Given the description of an element on the screen output the (x, y) to click on. 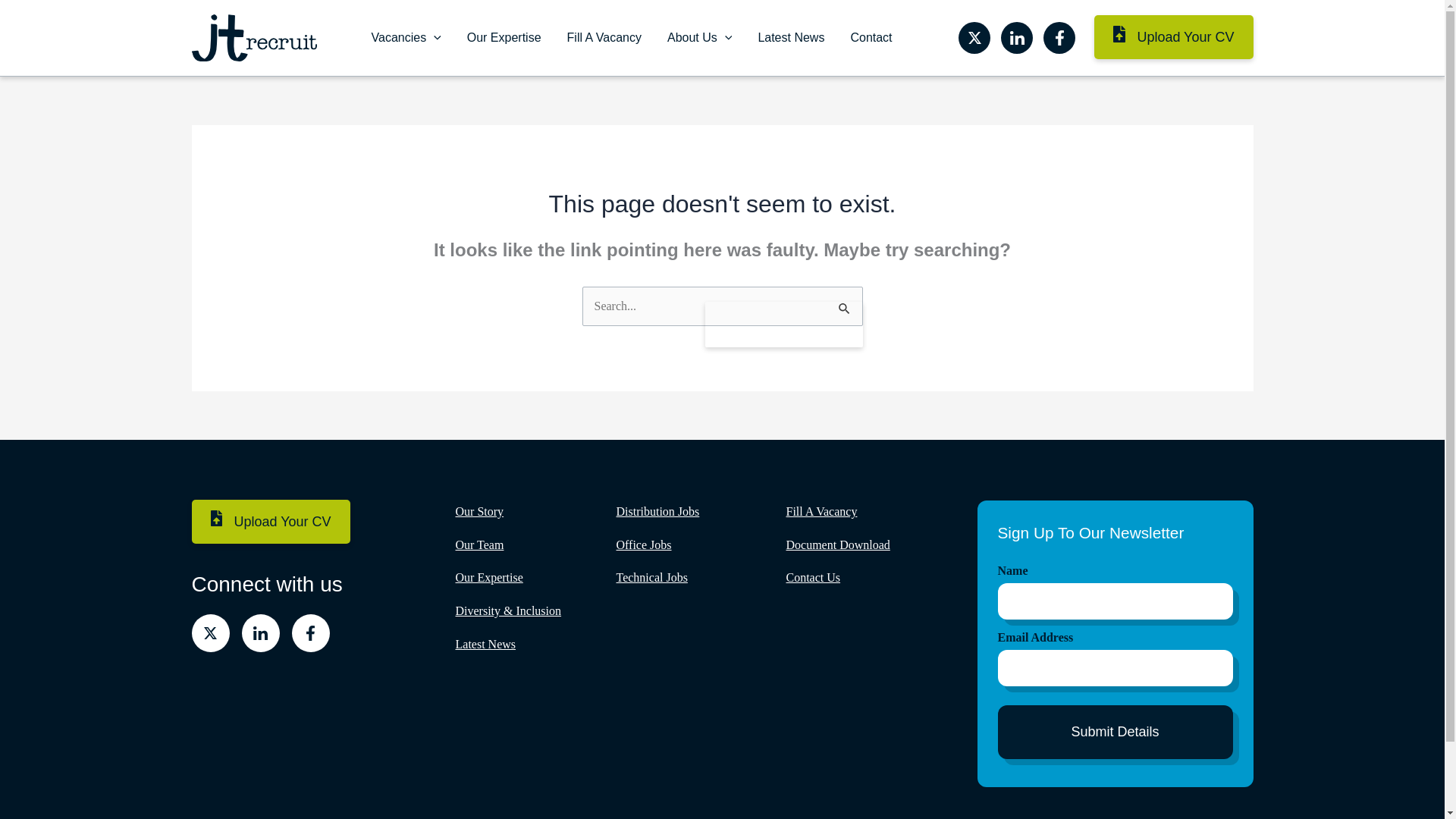
Contact (870, 38)
About Us (698, 38)
Submit Details (1115, 732)
Our Expertise (504, 38)
Search (783, 324)
Latest News (790, 38)
Email Address (1115, 637)
Fill A Vacancy (603, 38)
Vacancies (405, 38)
Name (1115, 570)
